Given the description of an element on the screen output the (x, y) to click on. 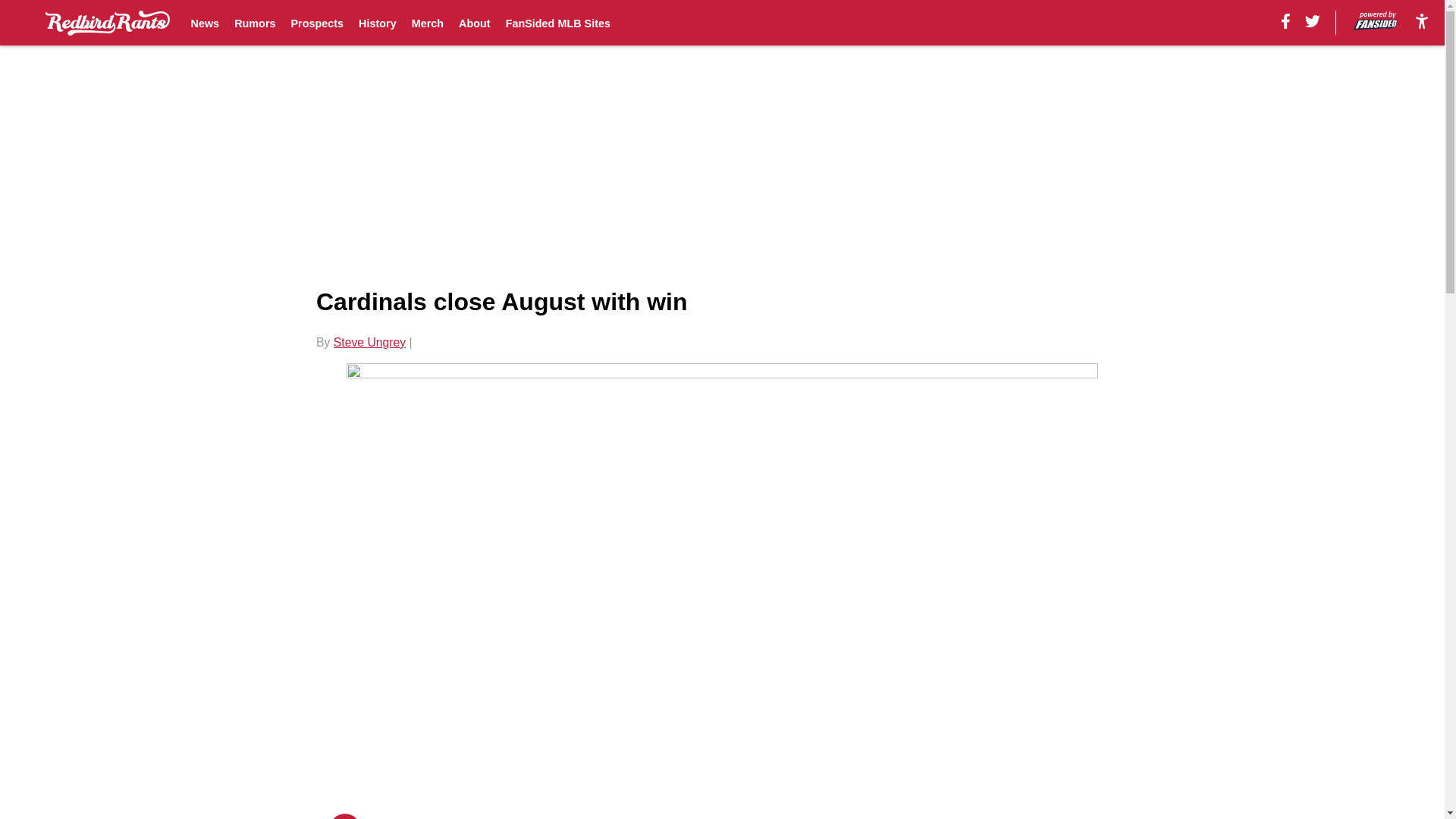
Steve Ungrey (369, 341)
News (204, 23)
FanSided MLB Sites (557, 23)
Rumors (254, 23)
History (377, 23)
About (474, 23)
Prospects (317, 23)
Merch (428, 23)
